Given the description of an element on the screen output the (x, y) to click on. 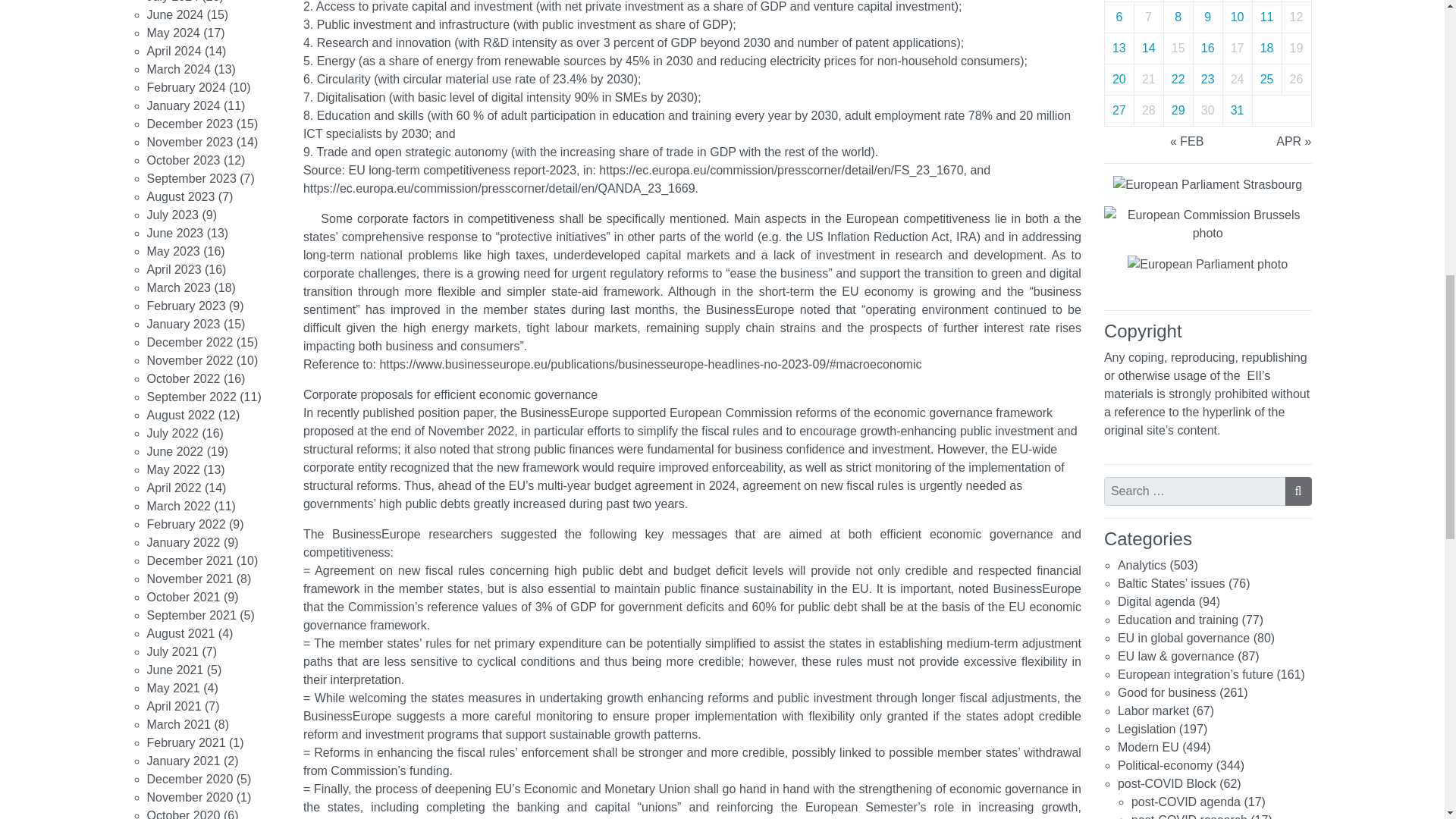
December 2023 (189, 123)
April 2024 (174, 50)
January 2024 (184, 104)
February 2024 (186, 86)
November 2023 (189, 141)
May 2024 (173, 31)
June 2024 (175, 13)
July 2024 (173, 1)
March 2024 (179, 68)
